Given the description of an element on the screen output the (x, y) to click on. 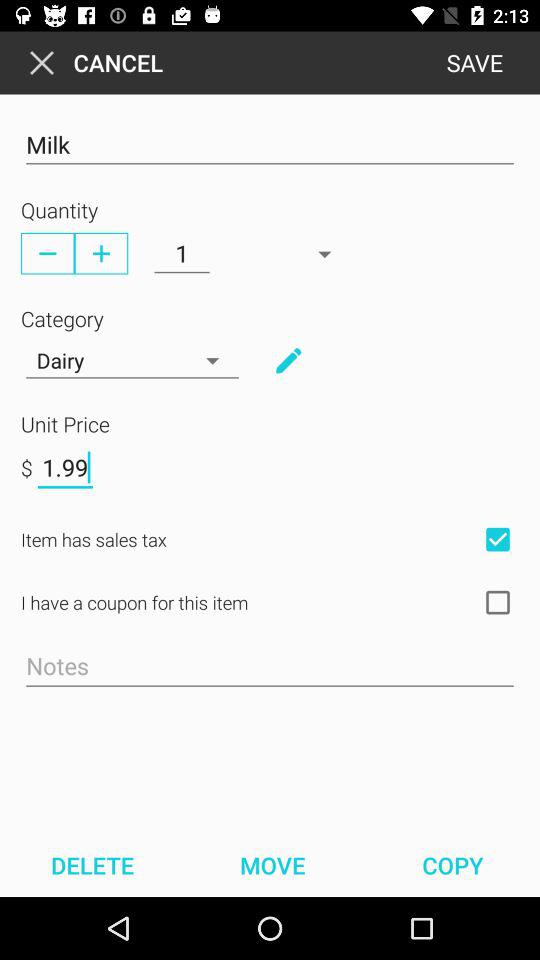
check box for sales tax (498, 539)
